Given the description of an element on the screen output the (x, y) to click on. 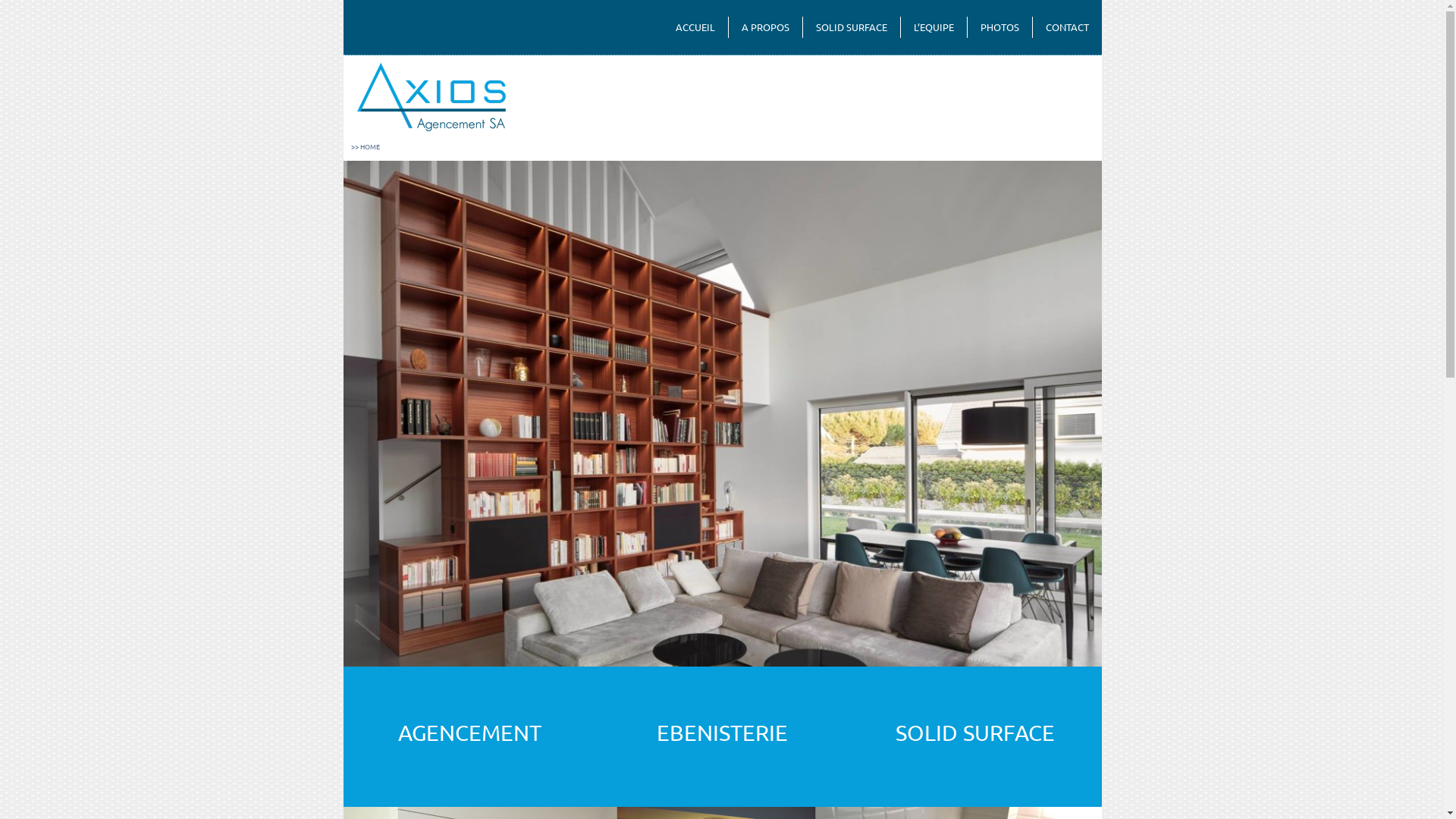
PHOTOS Element type: text (999, 27)
ACCUEIL Element type: text (695, 27)
A PROPOS Element type: text (764, 27)
CONTACT Element type: text (1066, 27)
SOLID SURFACE Element type: text (850, 27)
